Given the description of an element on the screen output the (x, y) to click on. 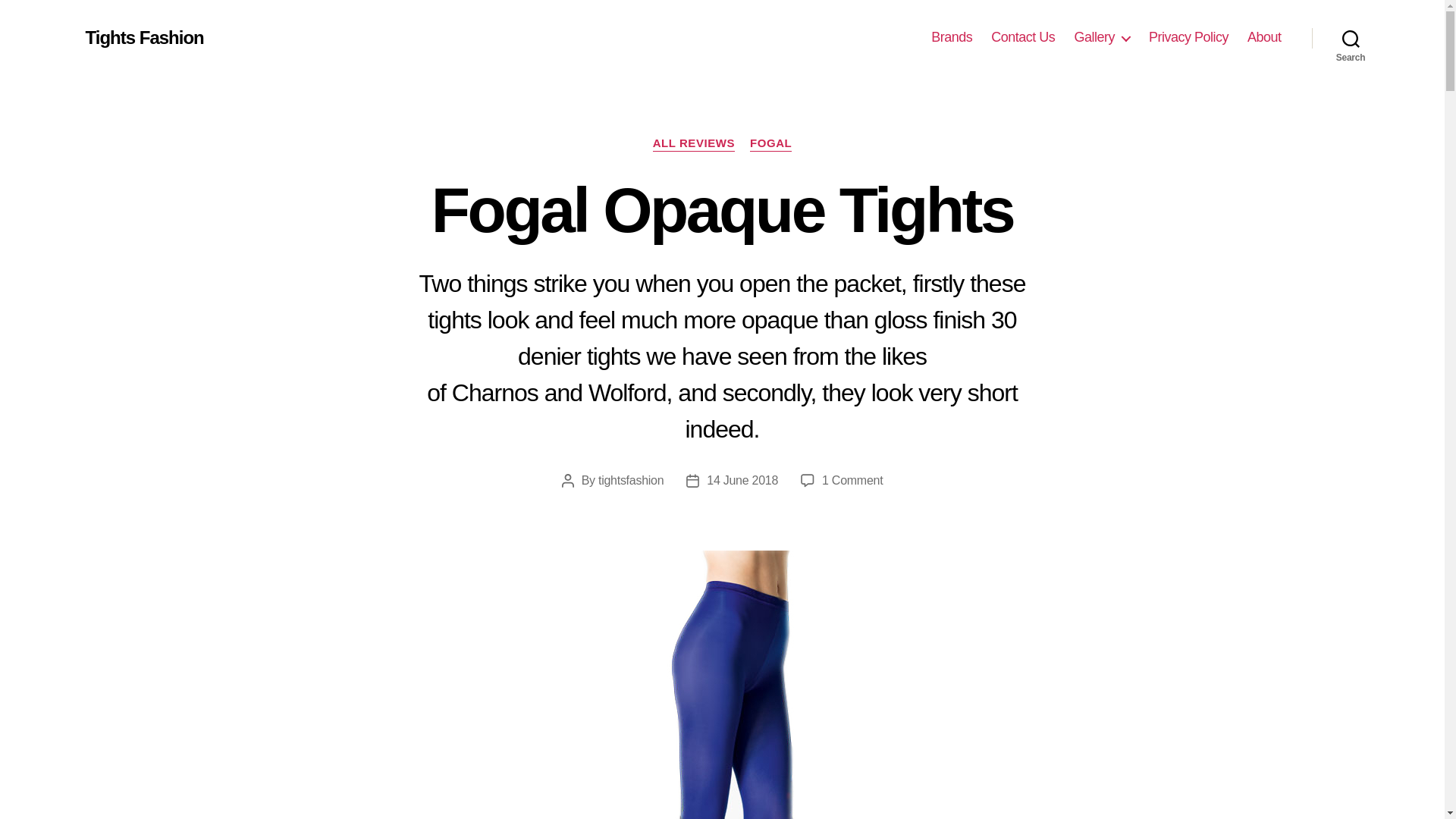
About (1264, 37)
Search (1350, 37)
Privacy Policy (1188, 37)
Tights Fashion (143, 37)
Gallery (1101, 37)
Contact Us (1022, 37)
Brands (951, 37)
